Given the description of an element on the screen output the (x, y) to click on. 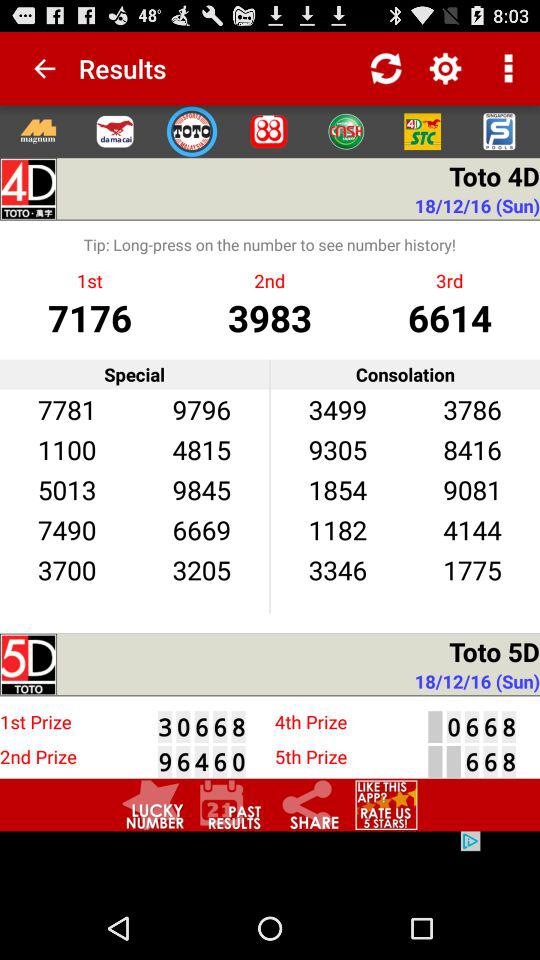
launch advertisement (270, 864)
